Given the description of an element on the screen output the (x, y) to click on. 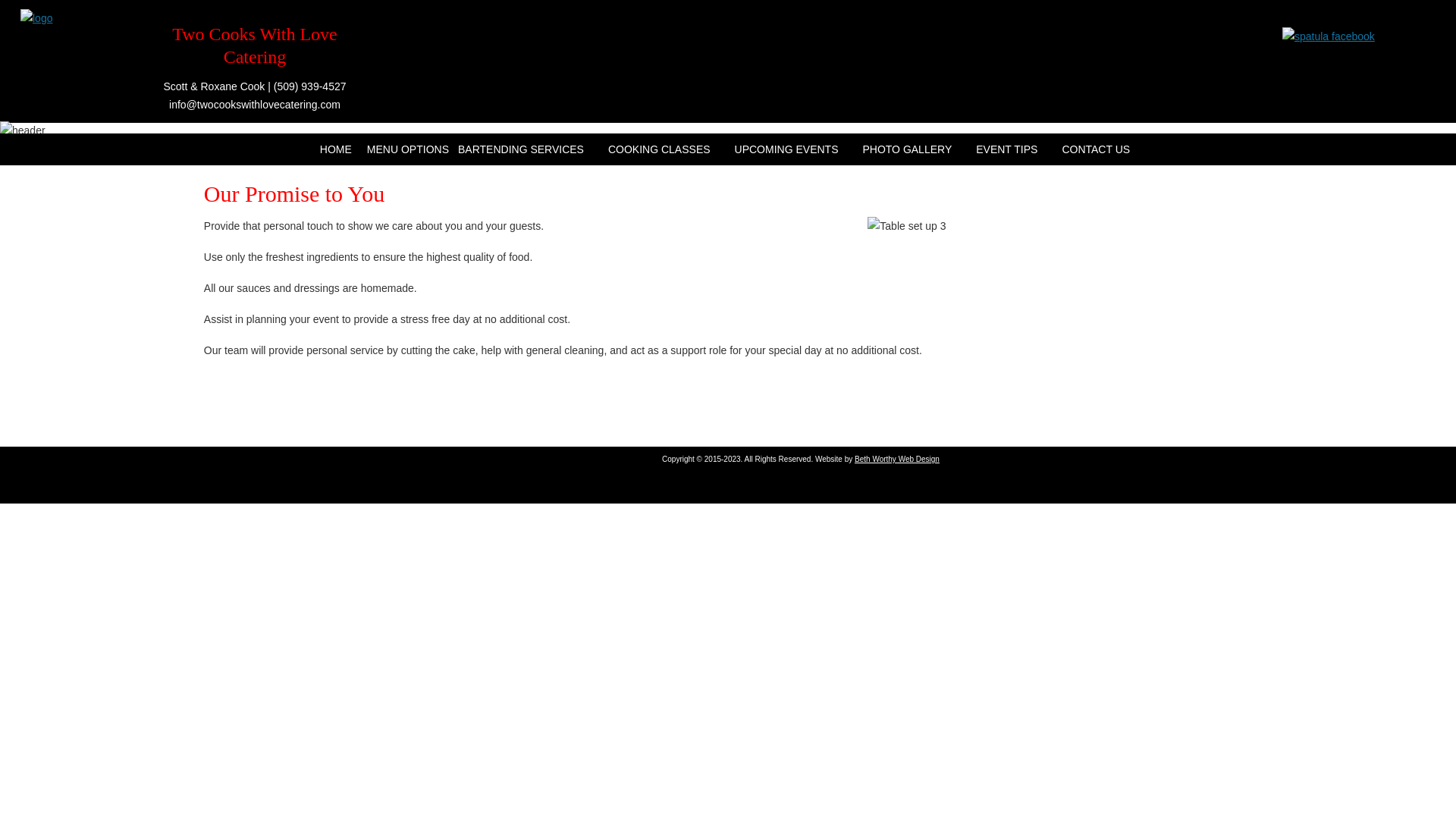
PHOTO GALLERY (906, 149)
HOME (336, 149)
UPCOMING EVENTS (785, 149)
CONTACT US (1095, 149)
Beth Worthy Web Design (896, 459)
COOKING CLASSES (658, 149)
EVENT TIPS (1006, 149)
BARTENDING SERVICES (520, 149)
